Given the description of an element on the screen output the (x, y) to click on. 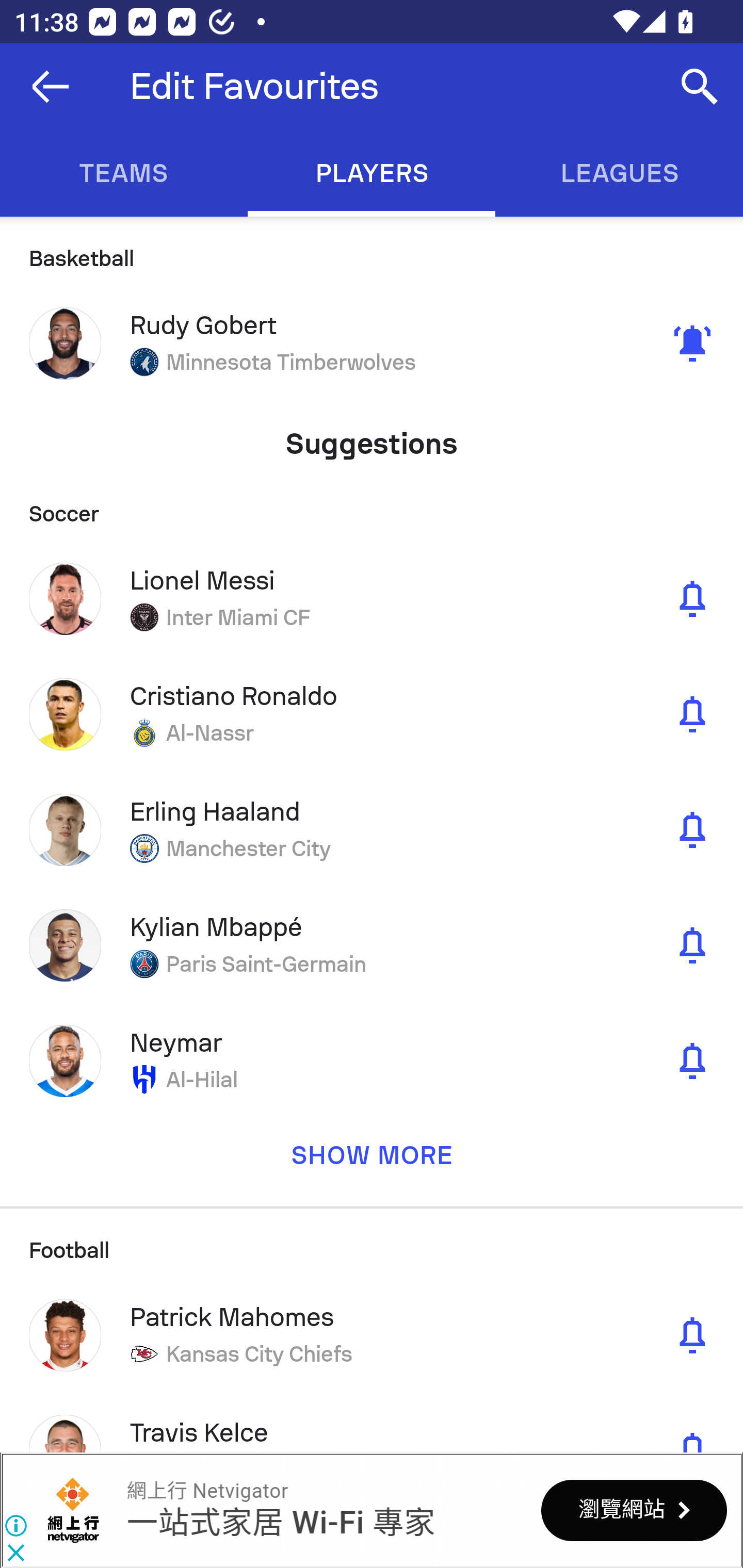
Navigate up (50, 86)
Search (699, 86)
Teams TEAMS (123, 173)
Leagues LEAGUES (619, 173)
Basketball (371, 250)
Rudy Gobert Minnesota Timberwolves (371, 343)
Suggestions (371, 436)
Soccer (371, 505)
Lionel Messi Inter Miami CF (371, 598)
Cristiano Ronaldo Al-Nassr (371, 713)
Erling Haaland Manchester City (371, 829)
Kylian Mbappé Paris Saint-Germain (371, 945)
Neymar Al-Hilal (371, 1060)
SHOW MORE (371, 1161)
Football (371, 1241)
Patrick Mahomes Kansas City Chiefs (371, 1334)
網上行 Netvigator (73, 1510)
網上行 Netvigator (206, 1491)
瀏覽網站 (634, 1509)
一站式家居 Wi-Fi 專家 (279, 1522)
